Given the description of an element on the screen output the (x, y) to click on. 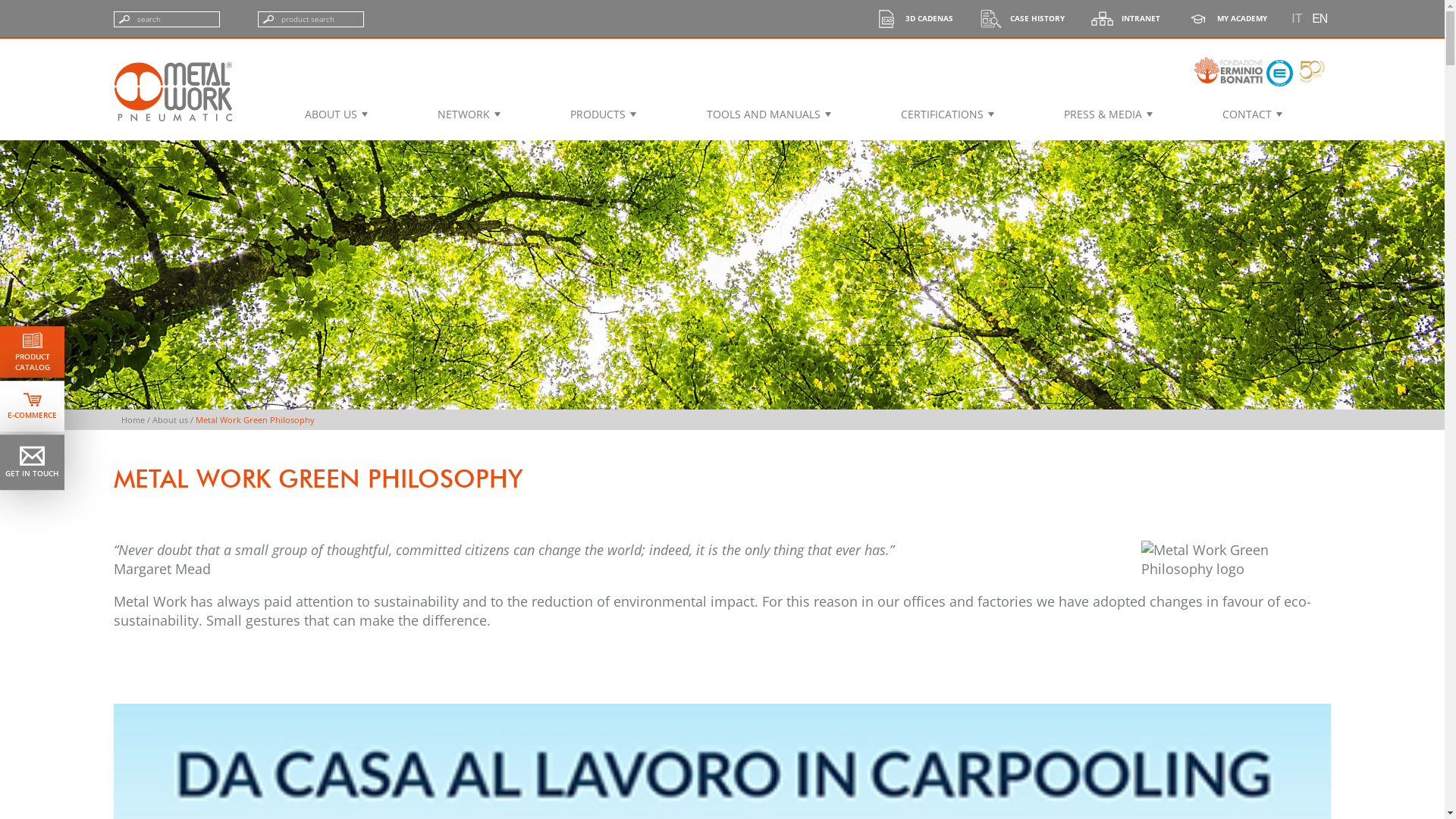
3D CADENAS Element type: text (919, 18)
PRODUCT
CATALOG Element type: text (32, 351)
Home Element type: text (132, 419)
GET IN TOUCH Element type: text (32, 461)
INTRANET Element type: text (1130, 18)
ABOUT US Element type: text (334, 114)
TOOLS AND MANUALS Element type: text (767, 114)
CONTACT Element type: text (1250, 114)
CASE HISTORY Element type: text (1027, 18)
MY ACADEMY Element type: text (1231, 18)
E-COMMERCE Element type: text (32, 405)
NETWORK Element type: text (467, 114)
PRODUCTS Element type: text (601, 114)
About us Element type: text (170, 419)
PRESS & MEDIA Element type: text (1106, 114)
CERTIFICATIONS Element type: text (945, 114)
